Given the description of an element on the screen output the (x, y) to click on. 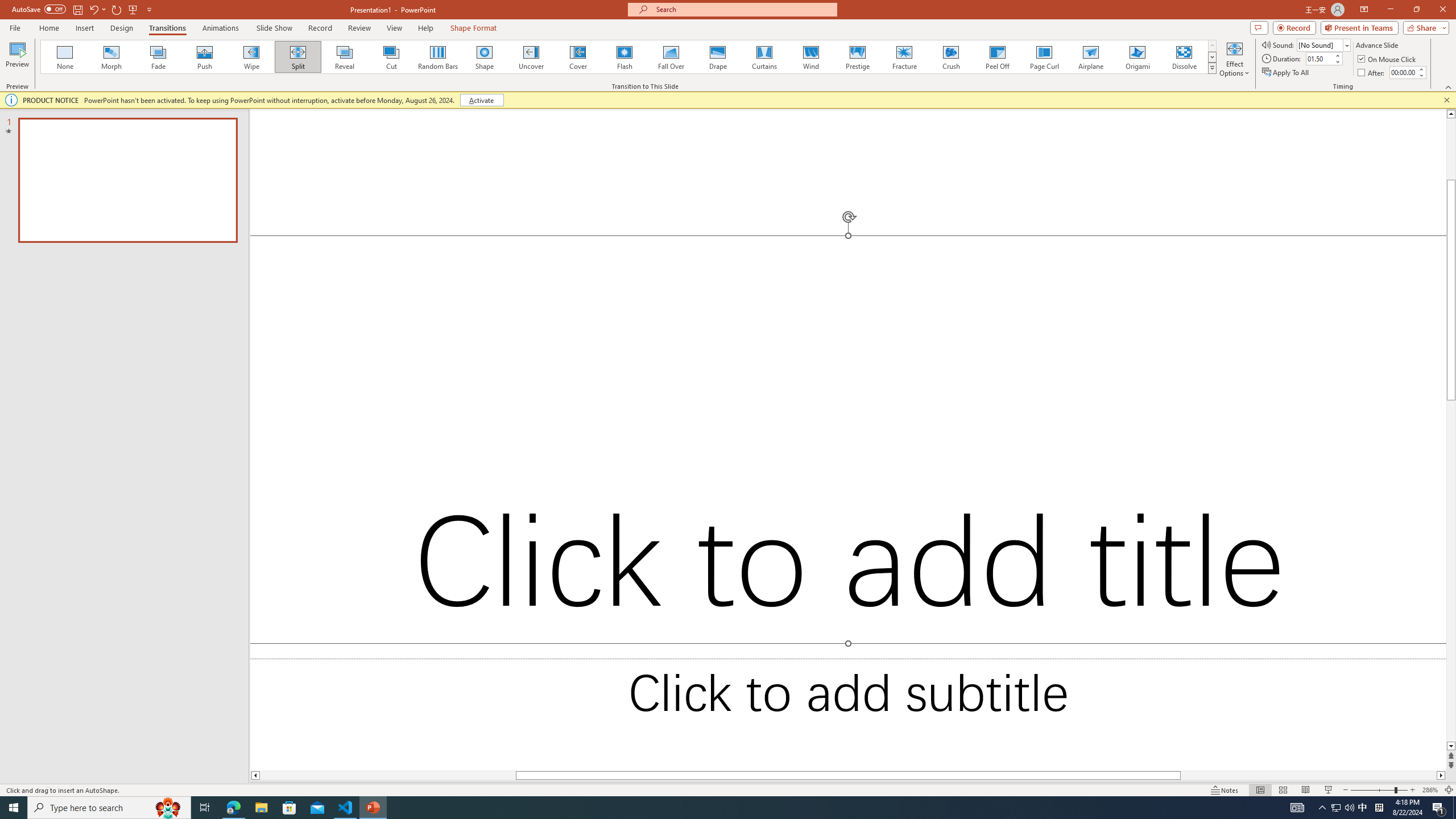
Airplane (1090, 56)
Curtains (764, 56)
Duration (1319, 58)
Drape (717, 56)
Dissolve (1183, 56)
Page Curl (1043, 56)
On Mouse Click (1387, 58)
